Given the description of an element on the screen output the (x, y) to click on. 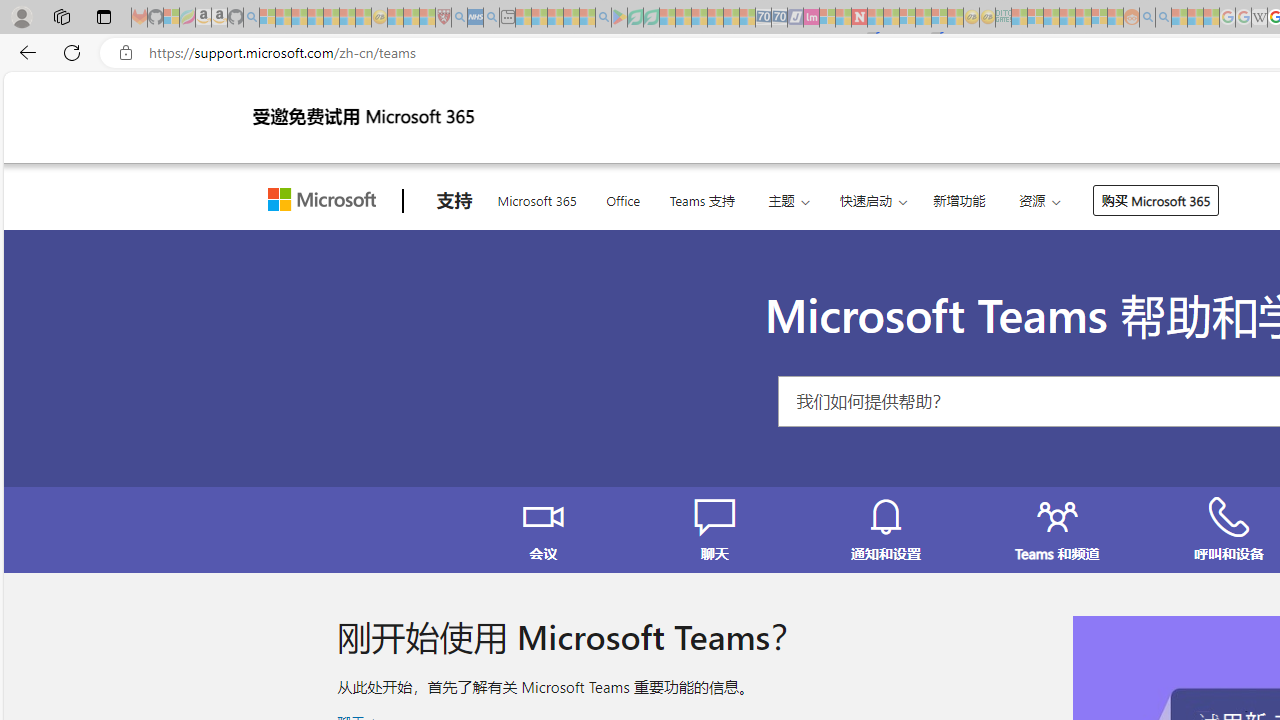
Expert Portfolios - Sleeping (1067, 17)
Microsoft Start - Sleeping (1179, 17)
Microsoft 365 (536, 198)
Back (24, 52)
Microsoft (326, 201)
Kinda Frugal - MSN - Sleeping (1083, 17)
